Given the description of an element on the screen output the (x, y) to click on. 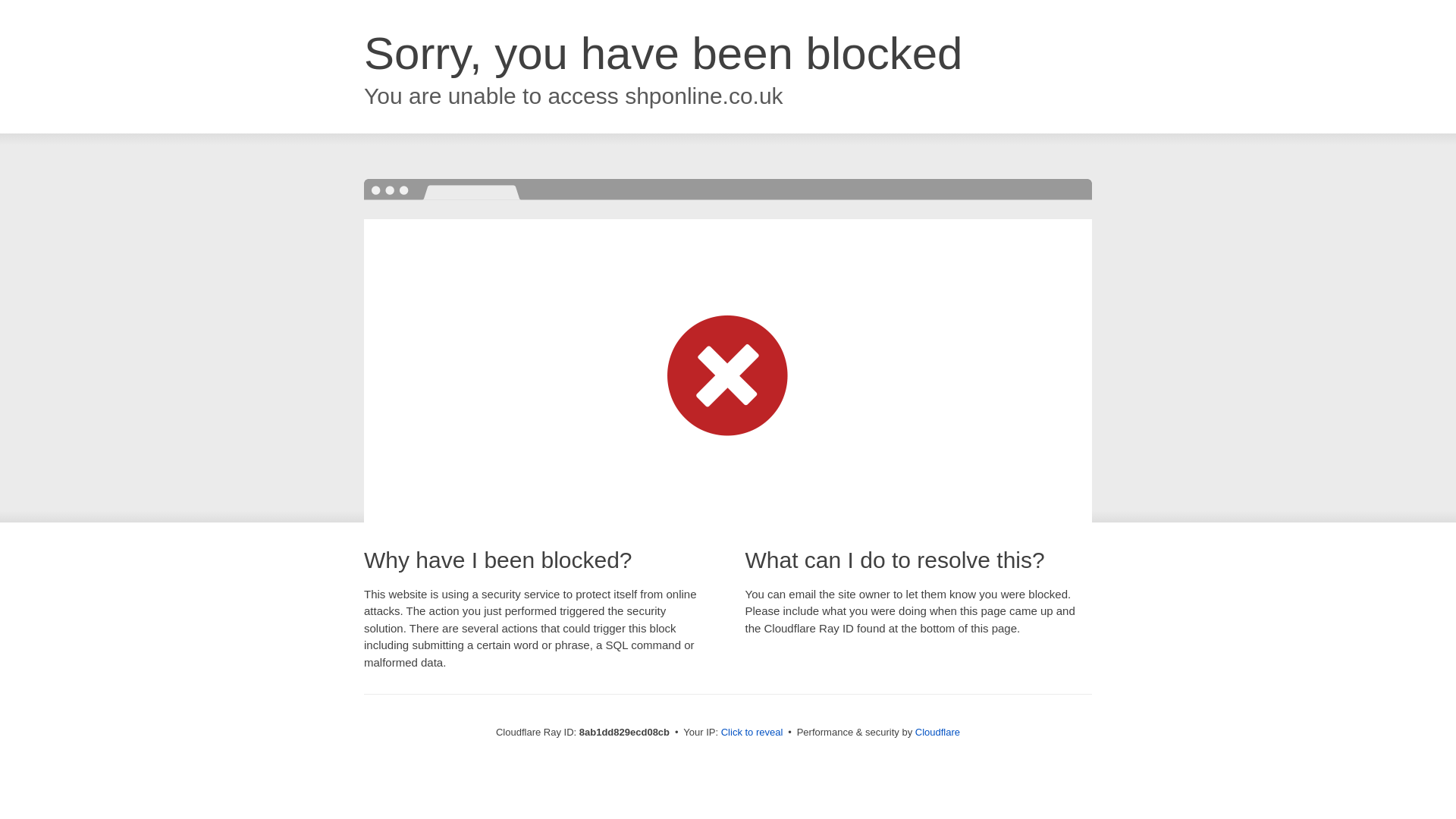
Click to reveal (751, 732)
Cloudflare (937, 731)
